Given the description of an element on the screen output the (x, y) to click on. 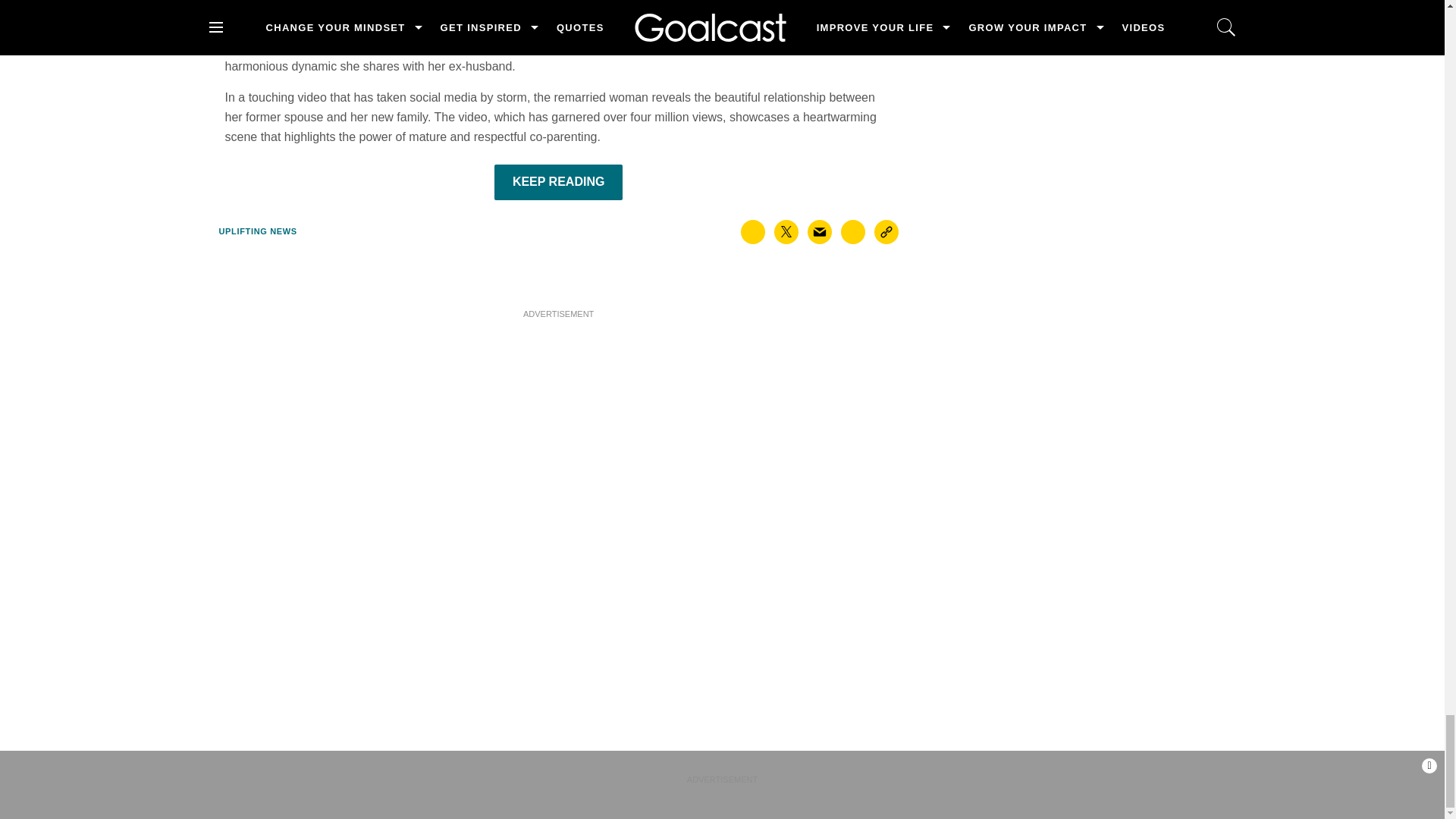
Copy this link to clipboard (886, 231)
